Given the description of an element on the screen output the (x, y) to click on. 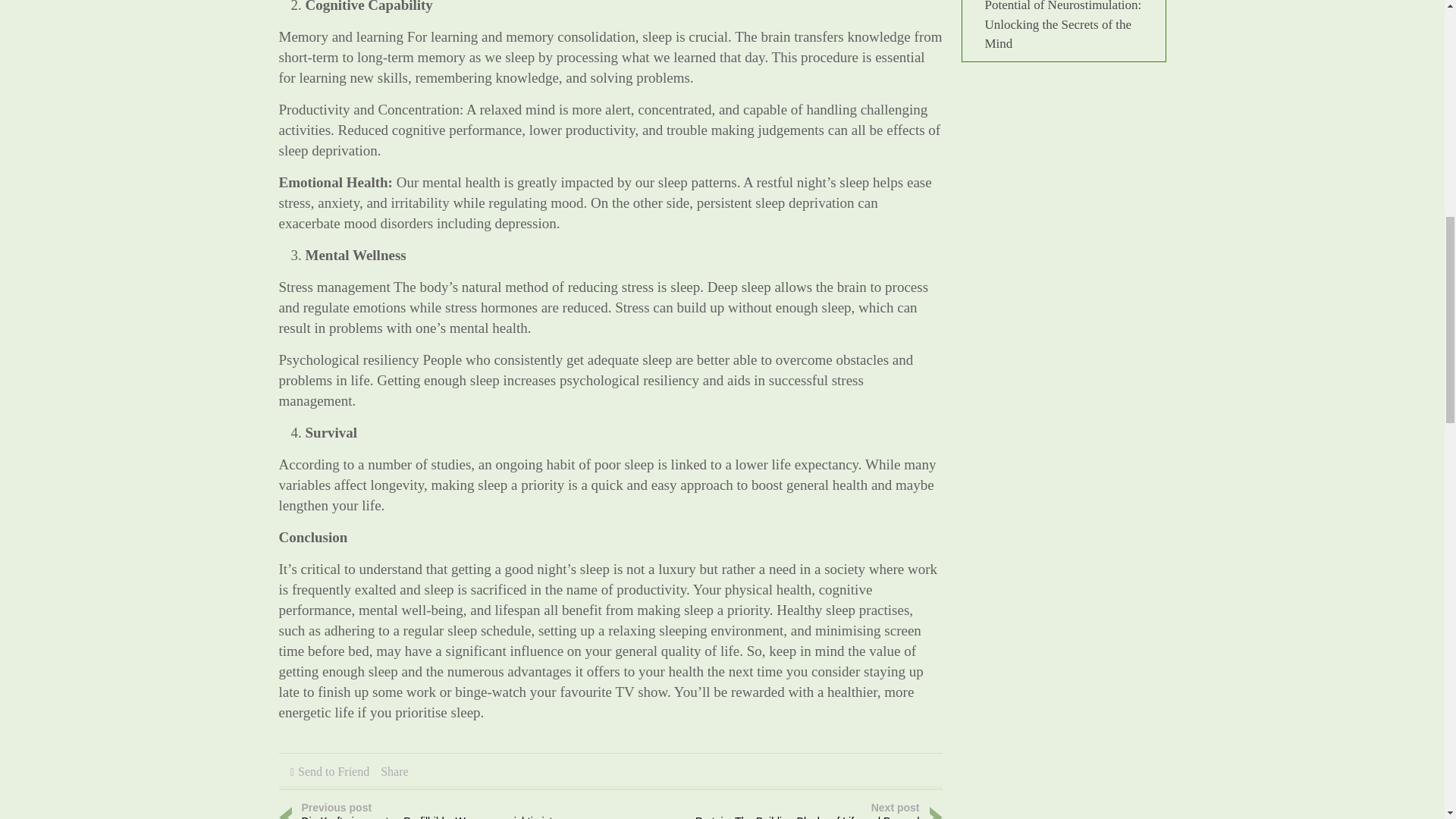
Send to Friend (333, 771)
Share (393, 771)
